Given the description of an element on the screen output the (x, y) to click on. 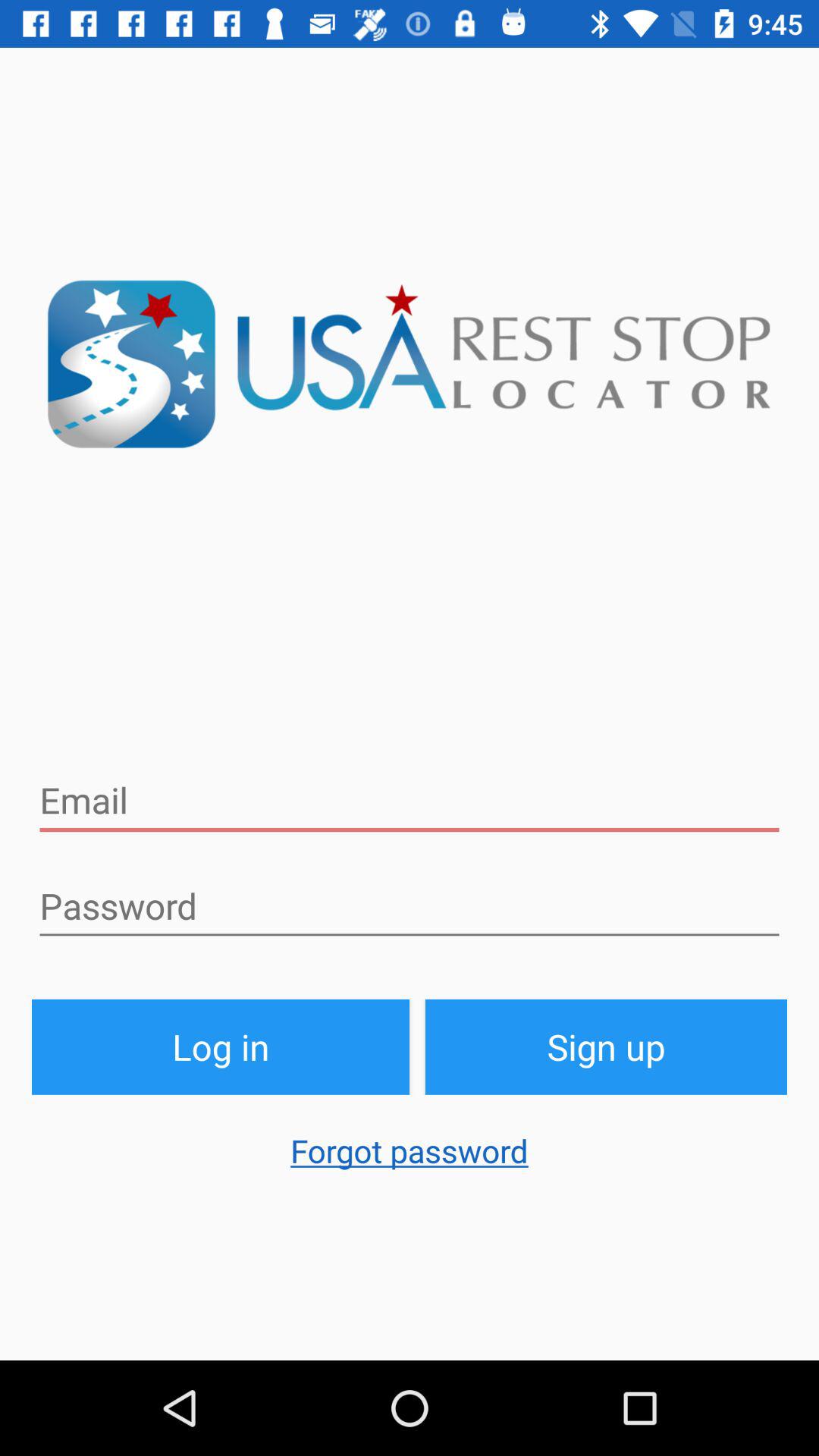
turn on the item below log in icon (409, 1158)
